Given the description of an element on the screen output the (x, y) to click on. 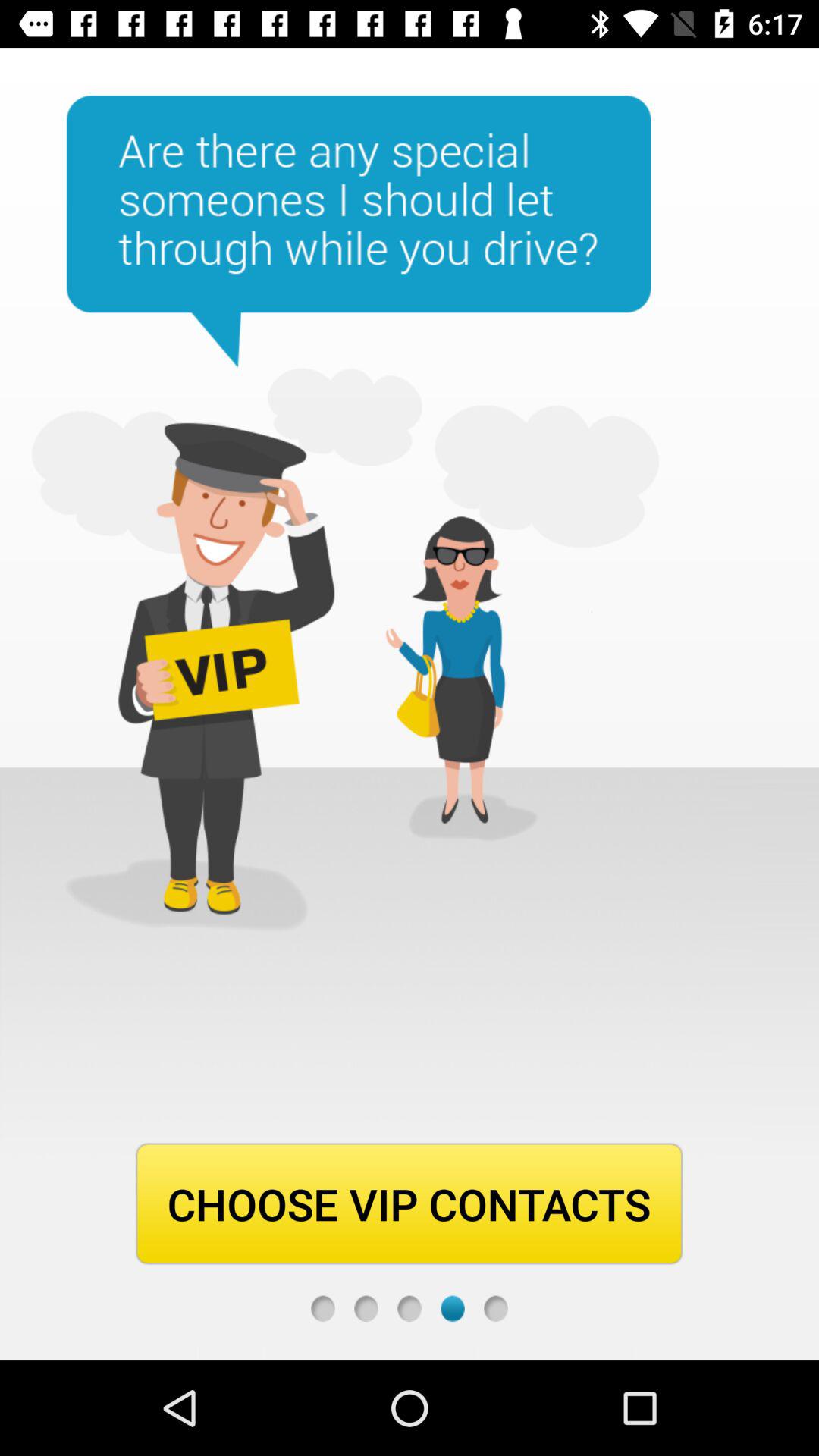
next (495, 1308)
